Given the description of an element on the screen output the (x, y) to click on. 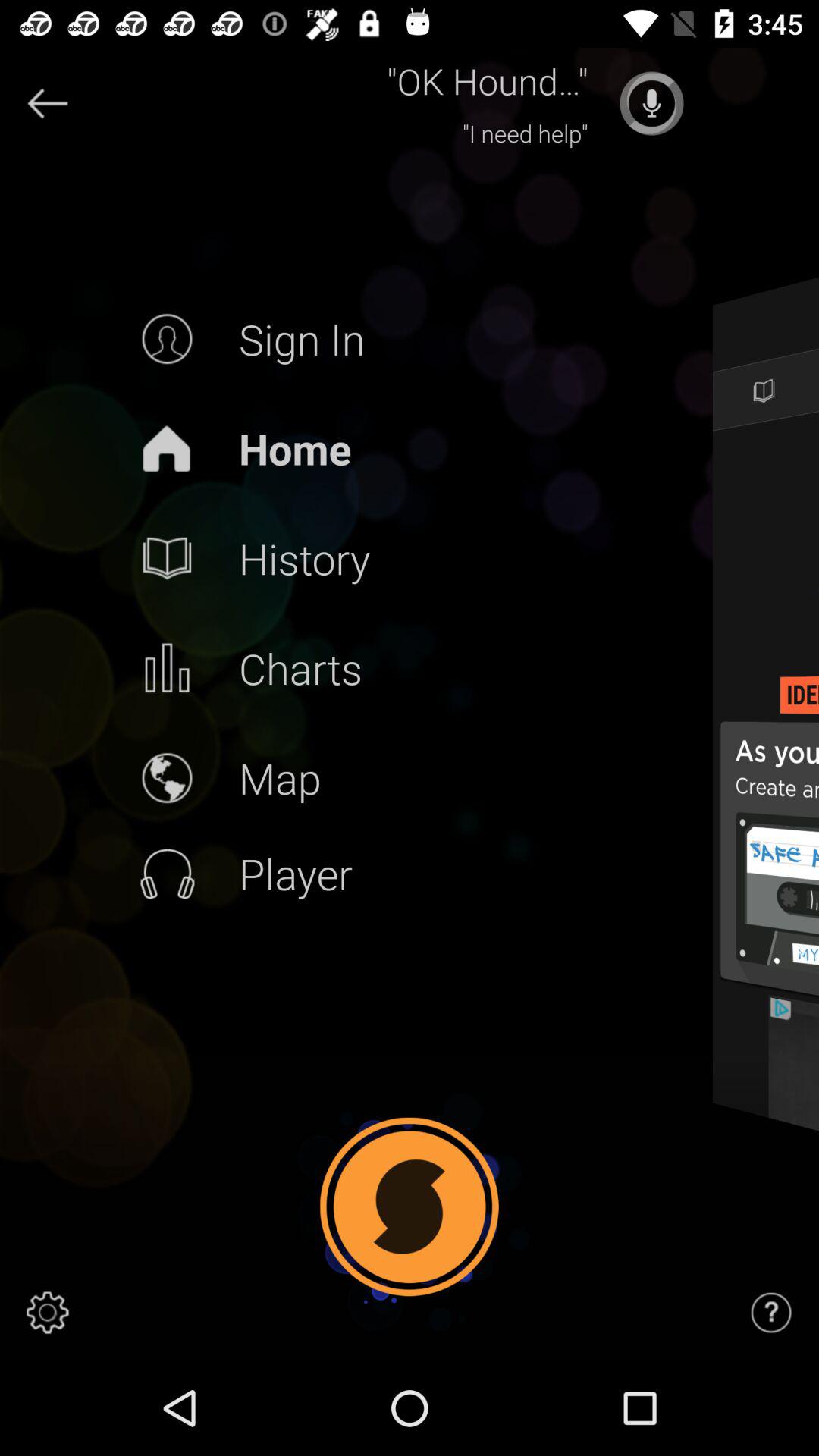
settings button (47, 1312)
